Given the description of an element on the screen output the (x, y) to click on. 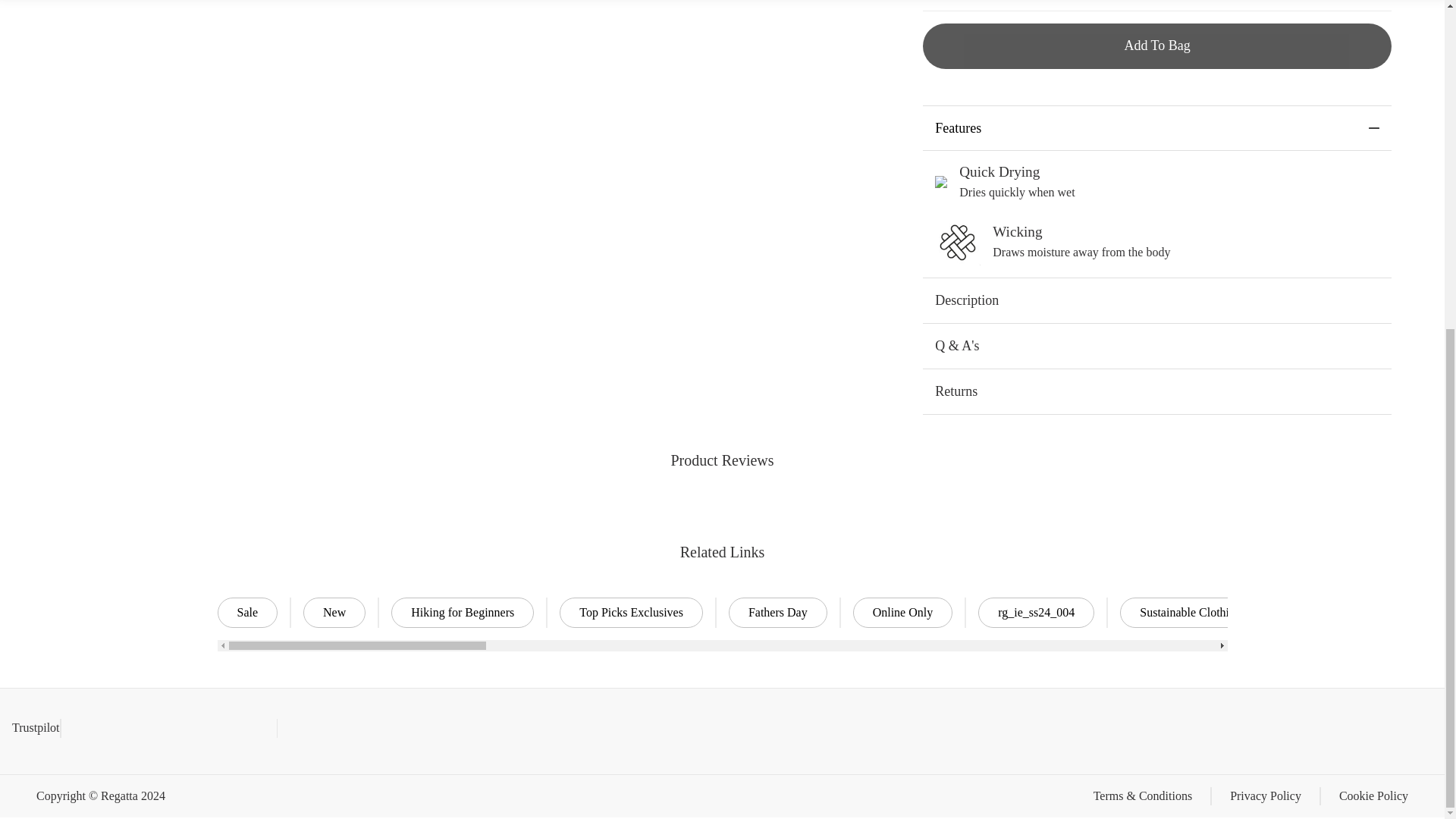
Features (1157, 128)
Add To Bag (1157, 45)
Description (1157, 300)
Returns (1157, 391)
Sale (247, 612)
Fathers Day (778, 612)
Hiking for Beginners (462, 612)
Online Only (903, 612)
Sustainable Clothing (1189, 612)
Top Picks Exclusives (631, 612)
New (333, 612)
